Given the description of an element on the screen output the (x, y) to click on. 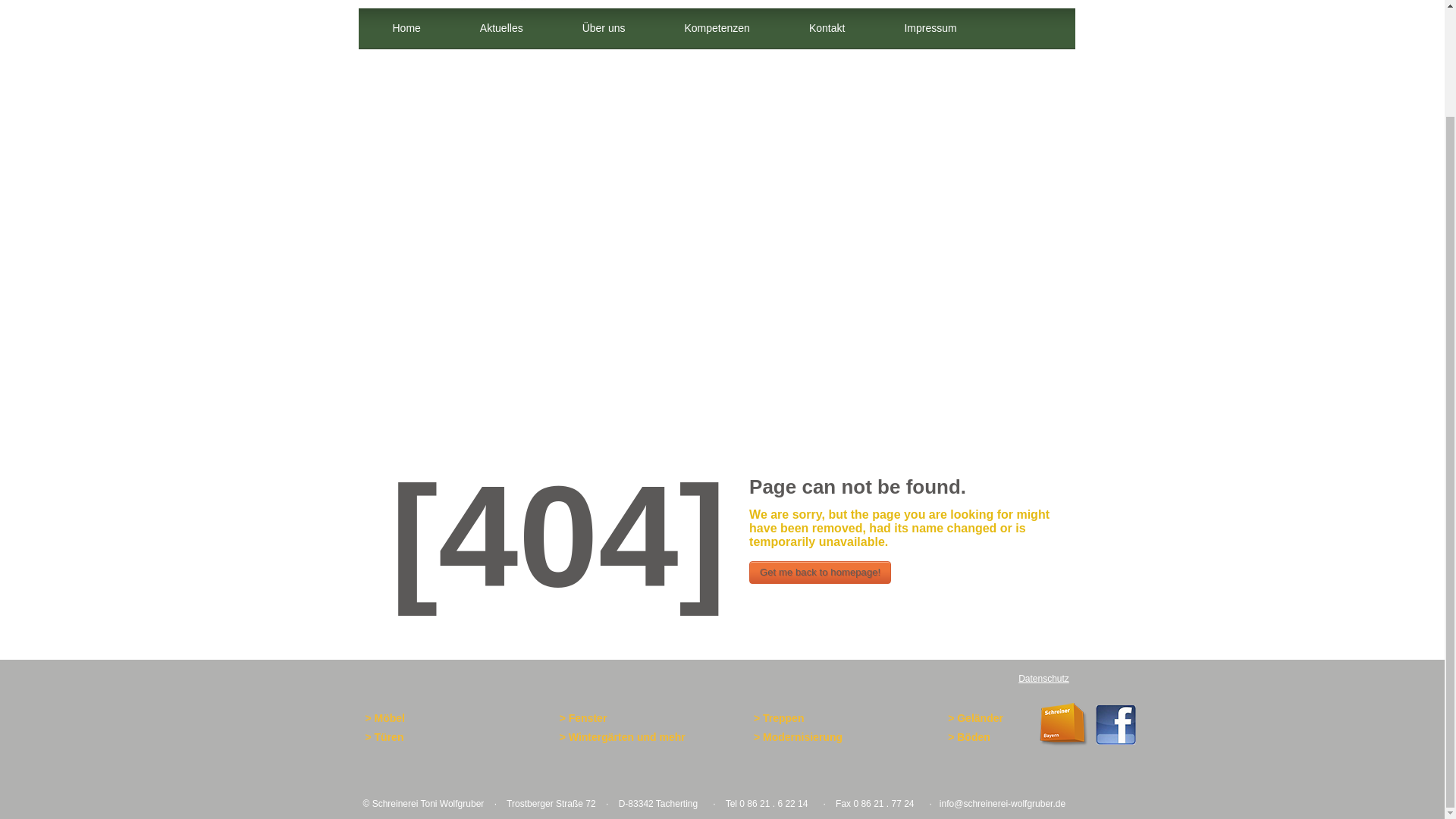
Home (406, 28)
Get me back to homepage! (820, 572)
Aktuelles (501, 28)
Kontakt (826, 28)
Datenschutz (1042, 678)
search (1034, 47)
Kompetenzen (716, 28)
search (1034, 47)
Impressum (930, 28)
